Given the description of an element on the screen output the (x, y) to click on. 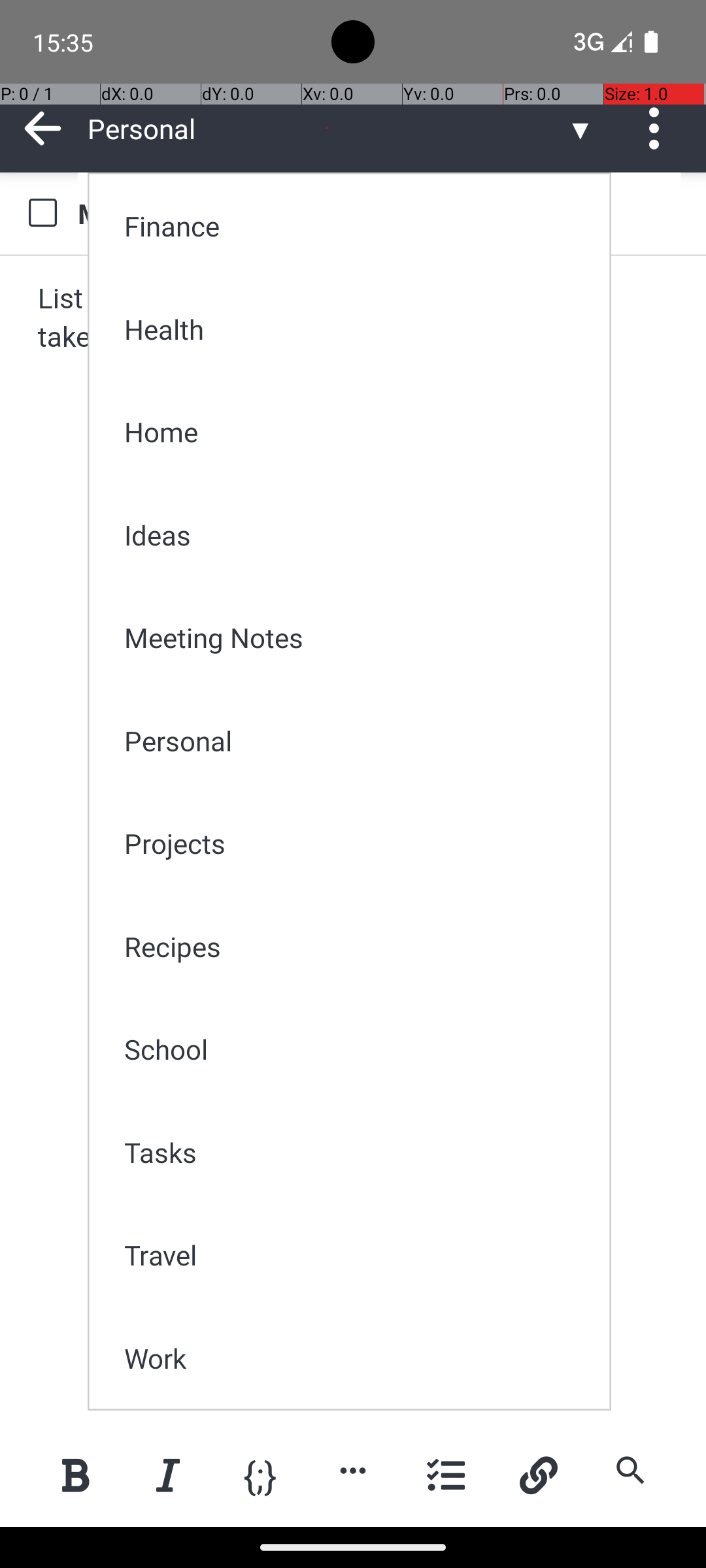
Finance Element type: android.widget.TextView (358, 225)
Health Element type: android.widget.TextView (358, 328)
Ideas Element type: android.widget.TextView (358, 534)
Meeting Notes Element type: android.widget.TextView (358, 636)
Personal Element type: android.widget.TextView (358, 740)
Projects Element type: android.widget.TextView (358, 842)
Recipes Element type: android.widget.TextView (358, 945)
School Element type: android.widget.TextView (358, 1048)
Tasks Element type: android.widget.TextView (358, 1151)
Travel Element type: android.widget.TextView (358, 1254)
Work Element type: android.widget.TextView (358, 1357)
